Given the description of an element on the screen output the (x, y) to click on. 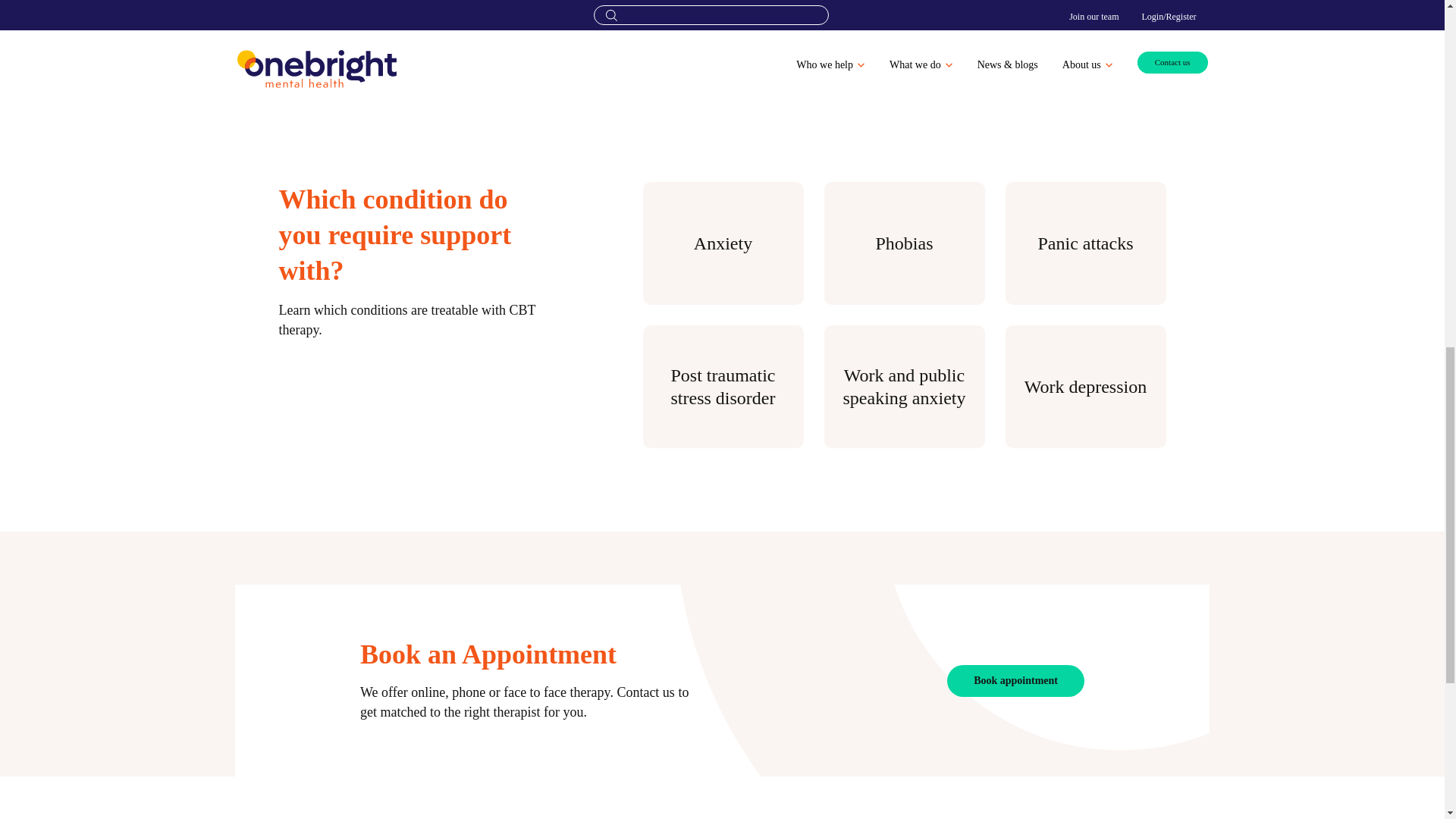
Work and public speaking anxiety (904, 386)
Phobias (904, 242)
Post traumatic stress disorder (723, 386)
Work depression (1086, 386)
Anxiety (723, 242)
Book appointment (1015, 680)
Panic attacks (1086, 242)
